Given the description of an element on the screen output the (x, y) to click on. 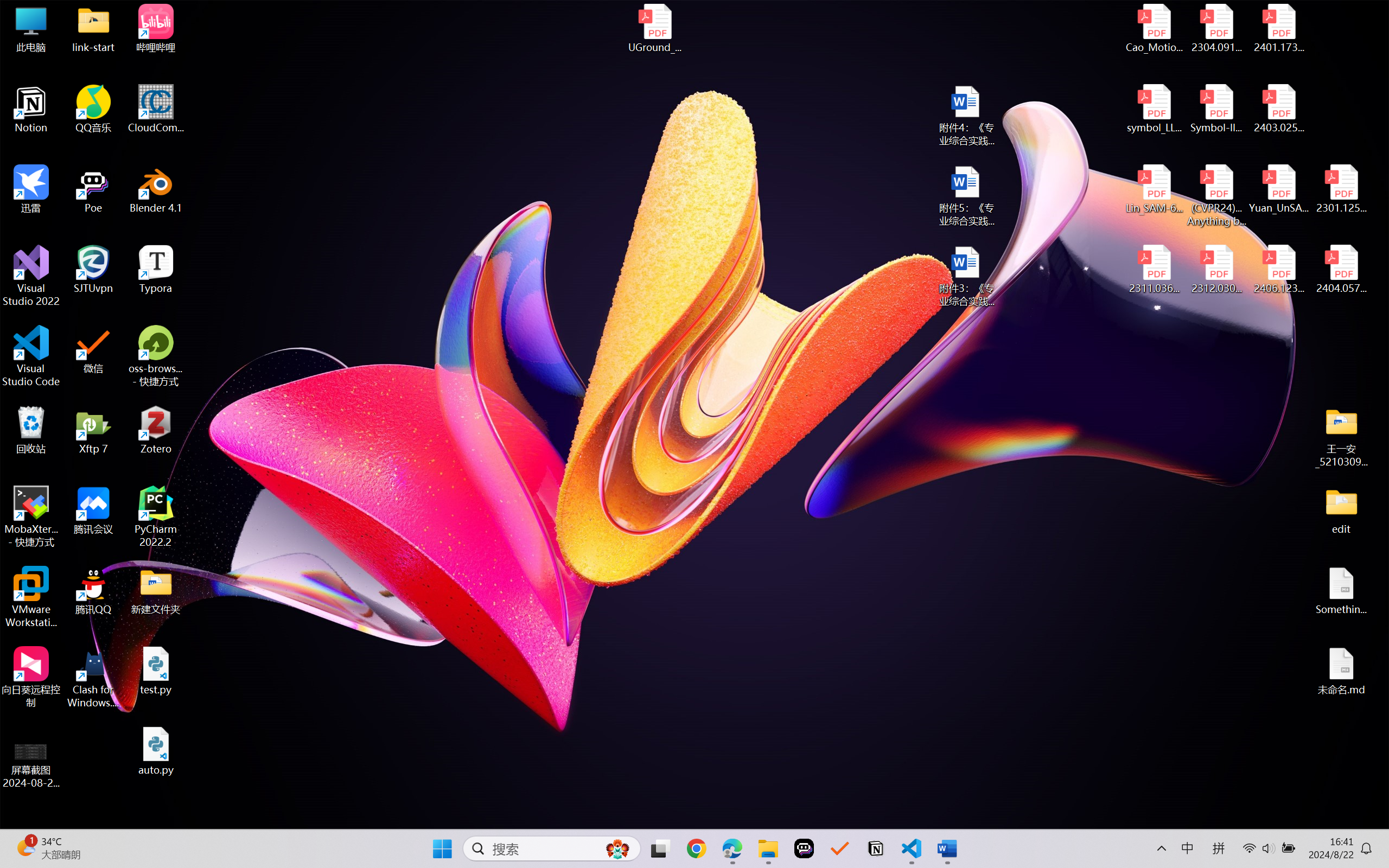
Something.md (1340, 591)
Notion (875, 848)
test.py (156, 670)
Poe (804, 848)
Visual Studio Code (31, 355)
Blender 4.1 (156, 189)
symbol_LLM.pdf (1154, 109)
2301.12597v3.pdf (1340, 189)
